Given the description of an element on the screen output the (x, y) to click on. 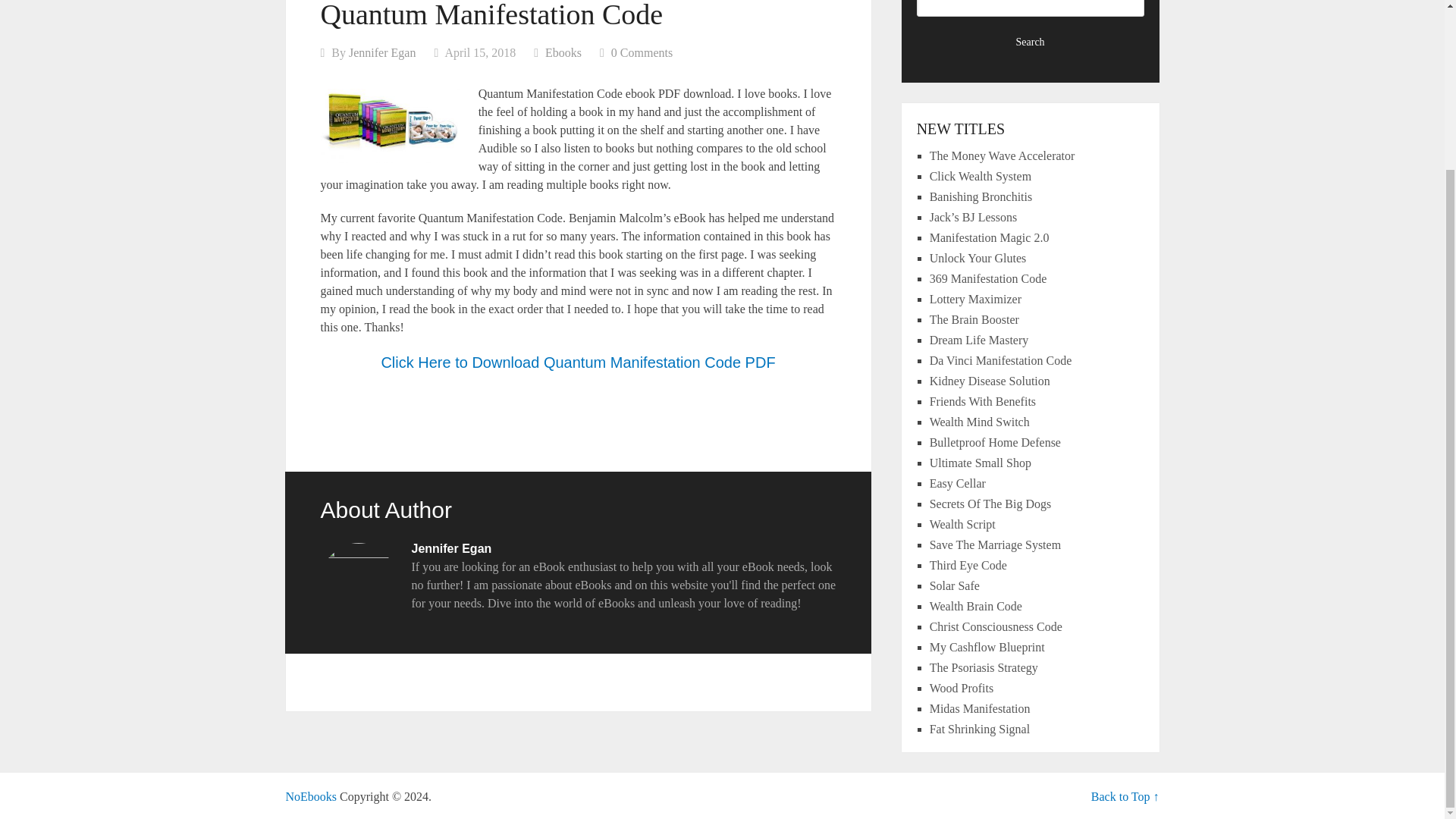
Manifestation Magic 2.0 (989, 237)
Wealth Brain Code (976, 605)
Dream Life Mastery (979, 339)
Jennifer Egan (381, 51)
Save The Marriage System (995, 544)
Search (1030, 42)
Banishing Bronchitis (981, 196)
Secrets Of The Big Dogs (990, 503)
Kidney Disease Solution (989, 380)
Easy Cellar (957, 482)
